Given the description of an element on the screen output the (x, y) to click on. 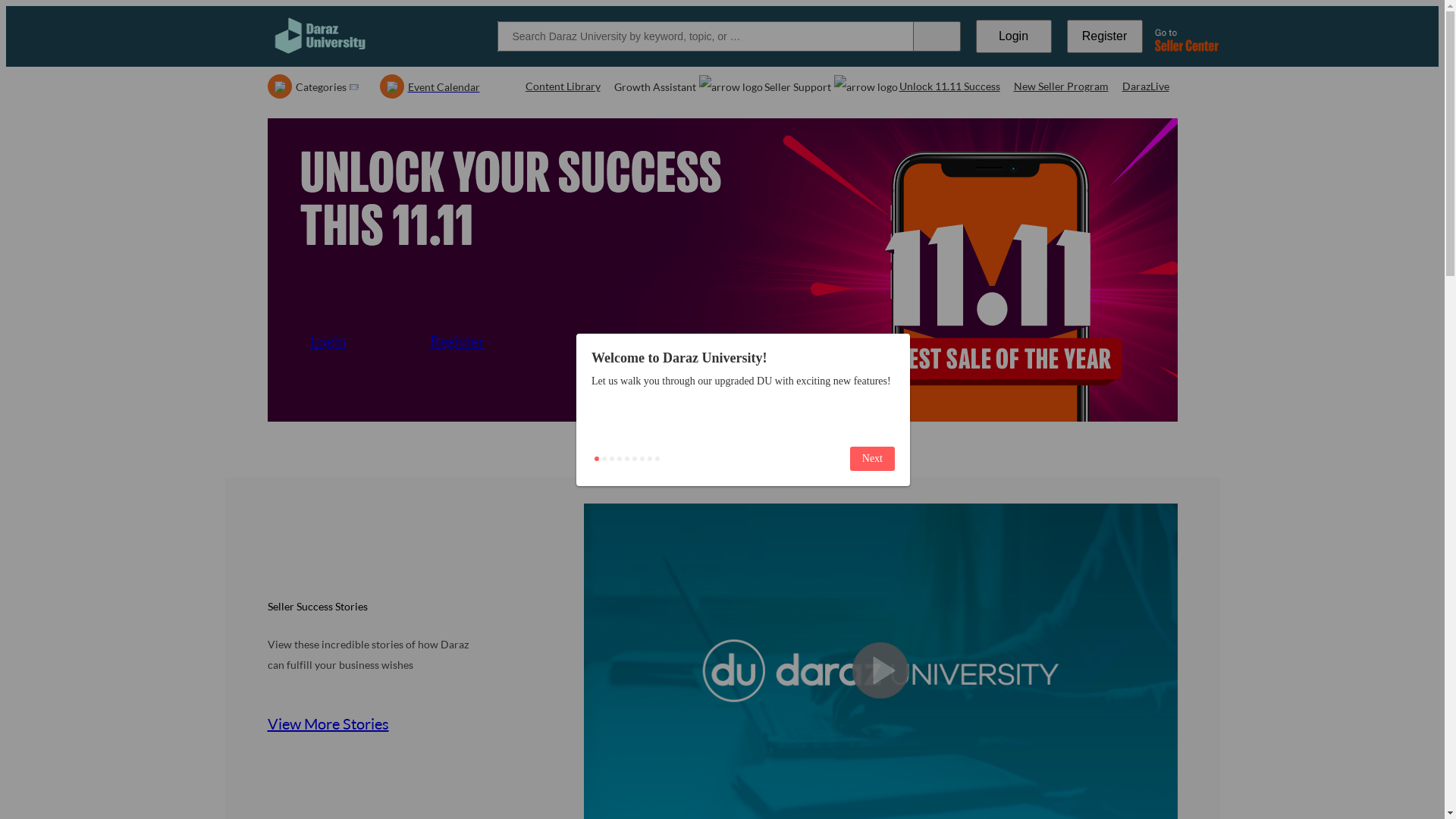
DarazLive Element type: text (1145, 86)
Event Calendar Element type: text (429, 86)
New Seller Program Element type: text (1060, 86)
Register Element type: text (1104, 36)
Login Element type: text (360, 340)
Content Library Element type: text (561, 86)
Growth Assistant Element type: text (682, 86)
View More Stories Element type: text (346, 723)
Login Element type: text (1013, 36)
Register Element type: text (480, 340)
Unlock 11.11 Success Element type: text (949, 86)
Seller Support Element type: text (824, 86)
